Given the description of an element on the screen output the (x, y) to click on. 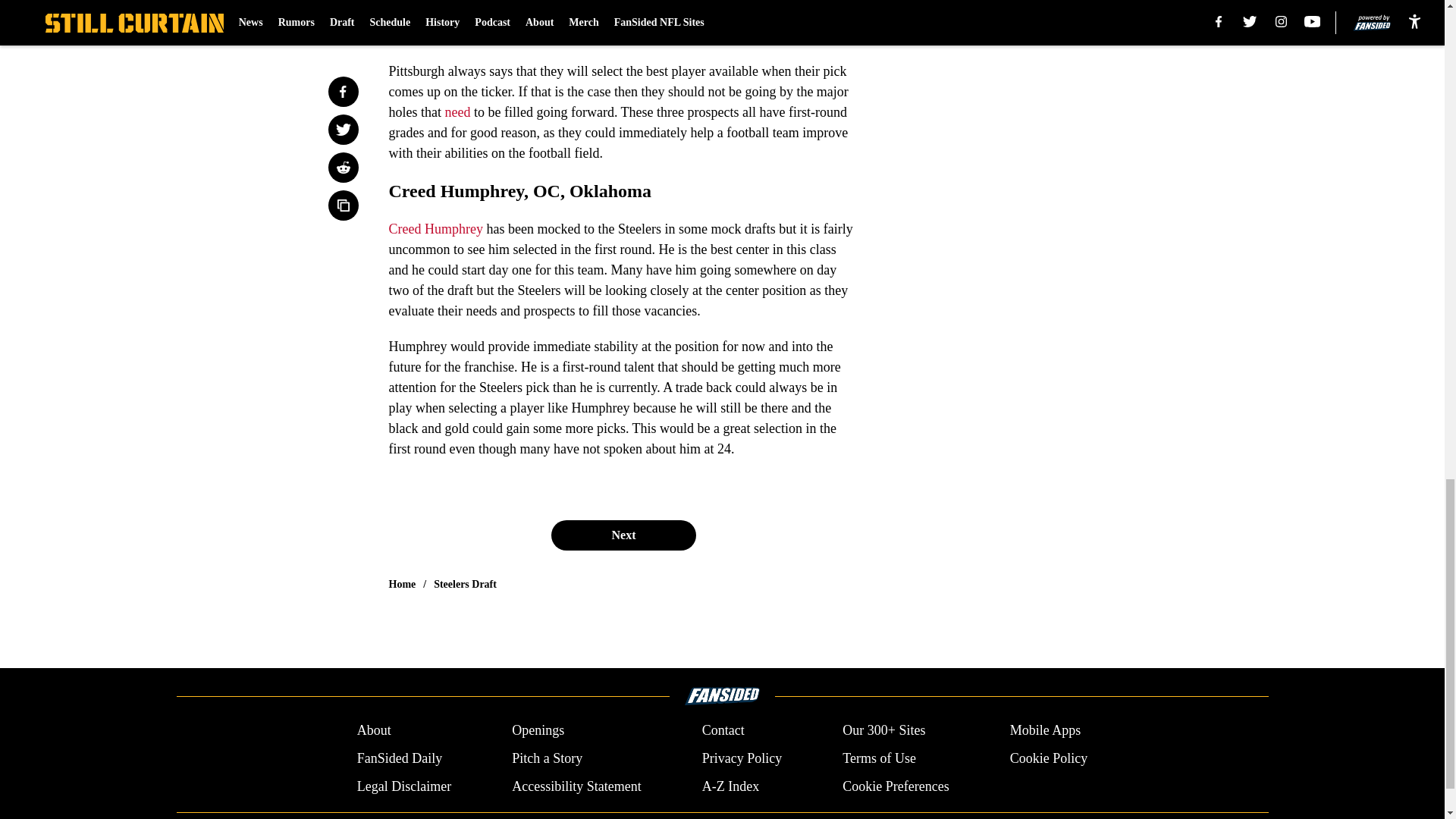
About (373, 730)
Steelers Draft (464, 584)
Mobile Apps (1045, 730)
Pitch a Story (547, 758)
Home (401, 584)
Privacy Policy (742, 758)
need (457, 111)
FanSided Daily (399, 758)
Creed Humphrey (434, 228)
Contact (722, 730)
